Given the description of an element on the screen output the (x, y) to click on. 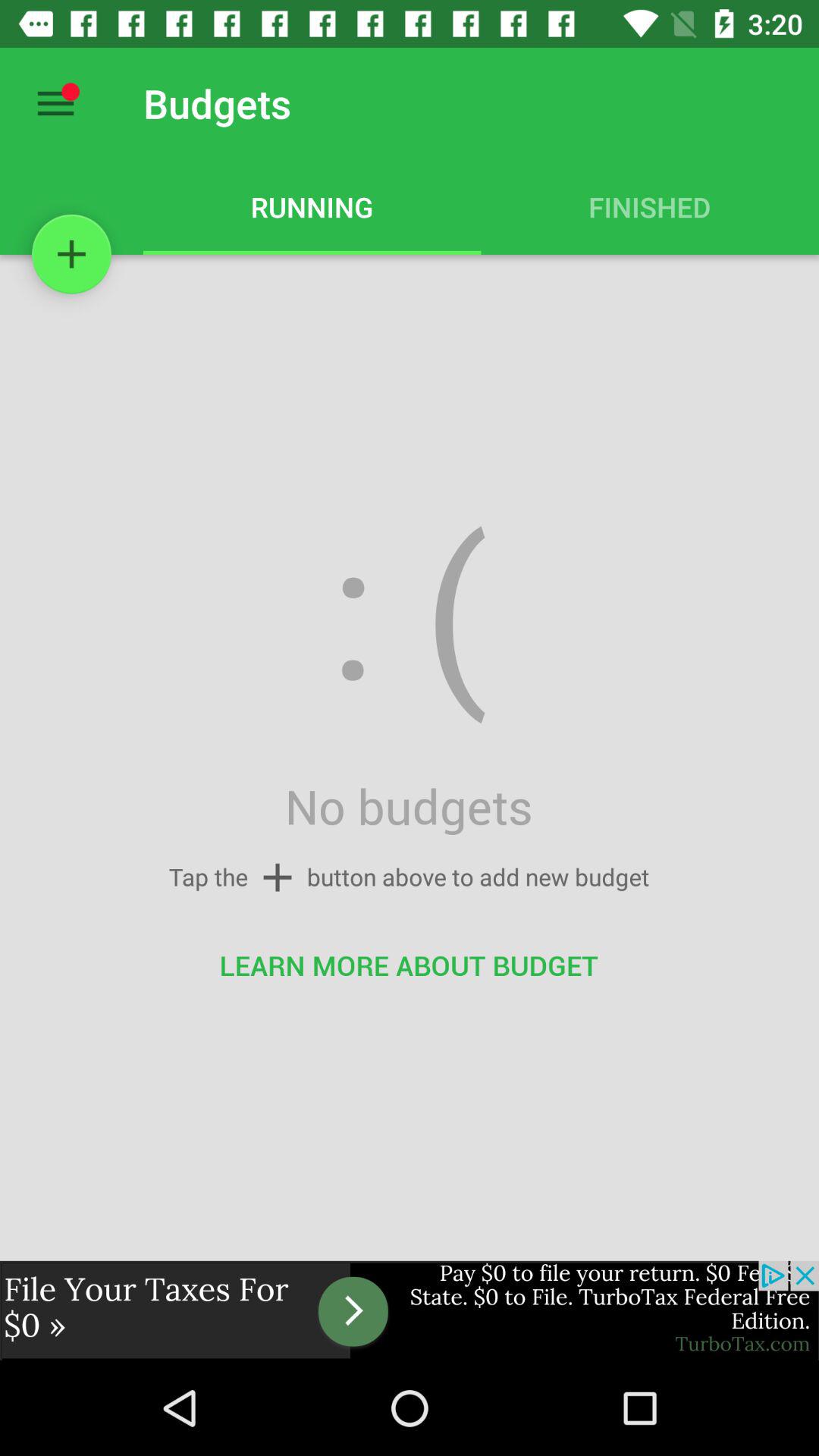
menu button (55, 103)
